Given the description of an element on the screen output the (x, y) to click on. 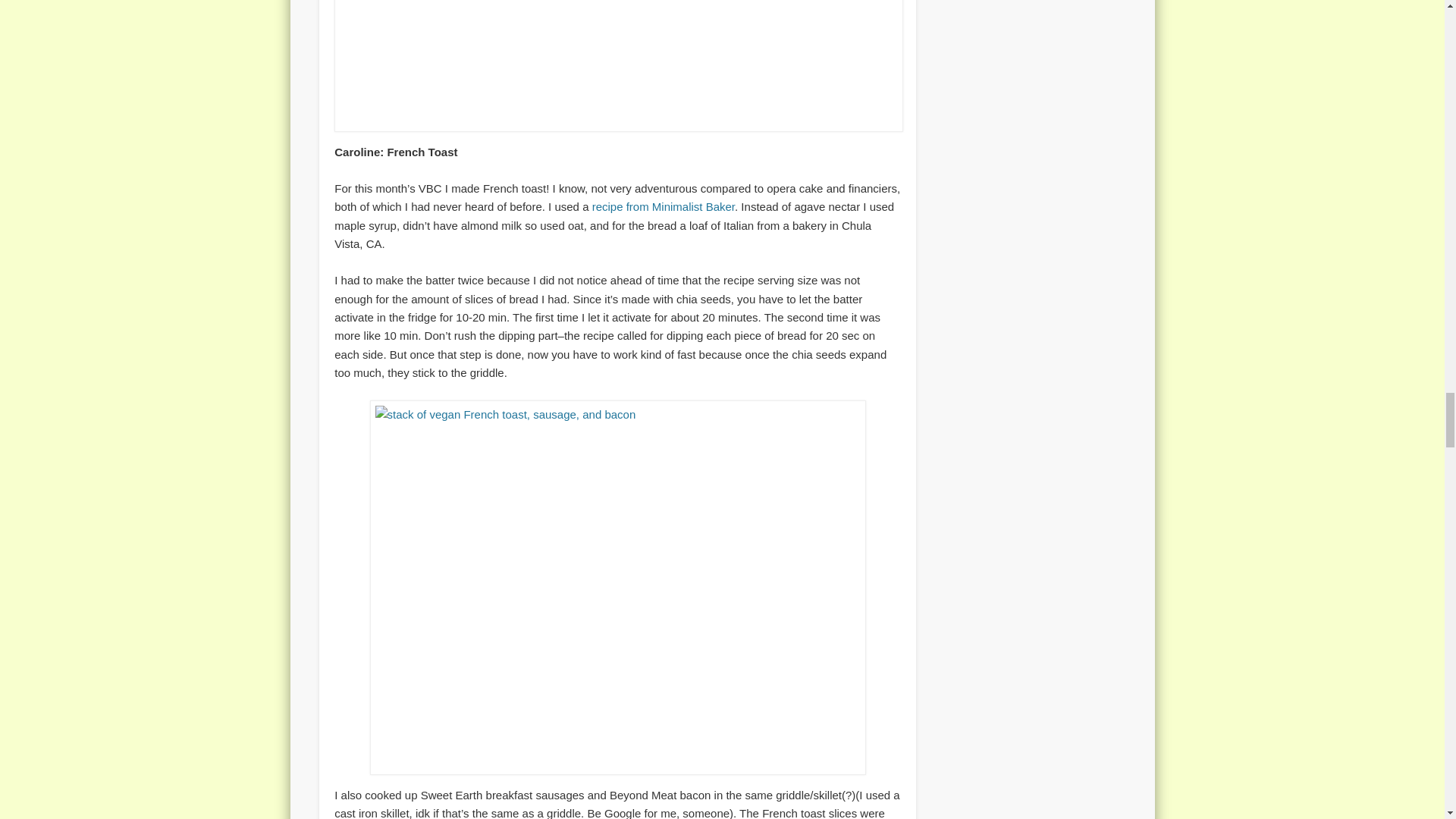
recipe from Minimalist Baker (663, 205)
